Given the description of an element on the screen output the (x, y) to click on. 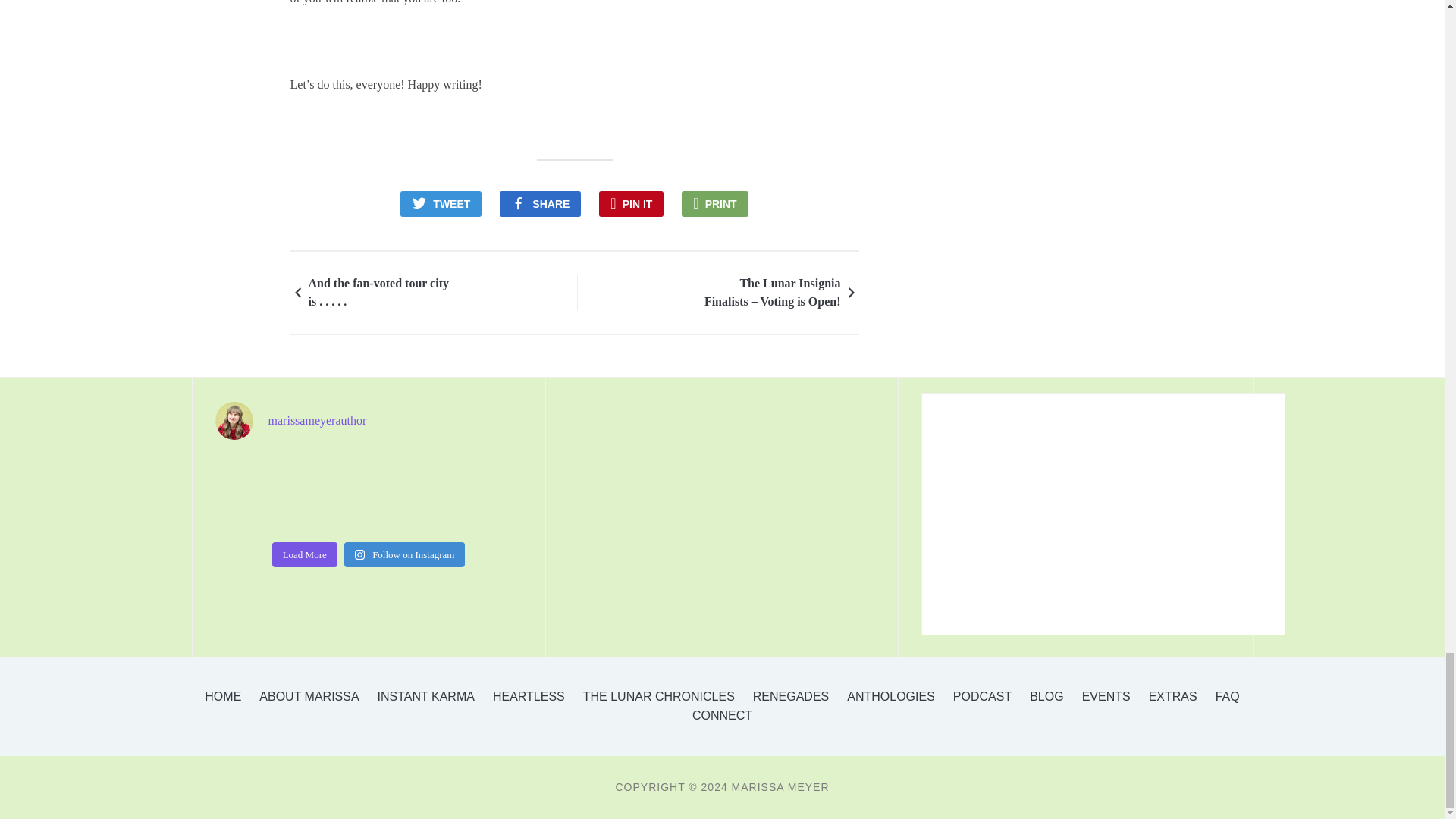
And the fan-voted tour city is . . . . . (378, 292)
Print this Page (714, 203)
Share this on Facebook (539, 203)
Pin it to Pinterest (630, 203)
Tweet this on Twitter (440, 203)
